Given the description of an element on the screen output the (x, y) to click on. 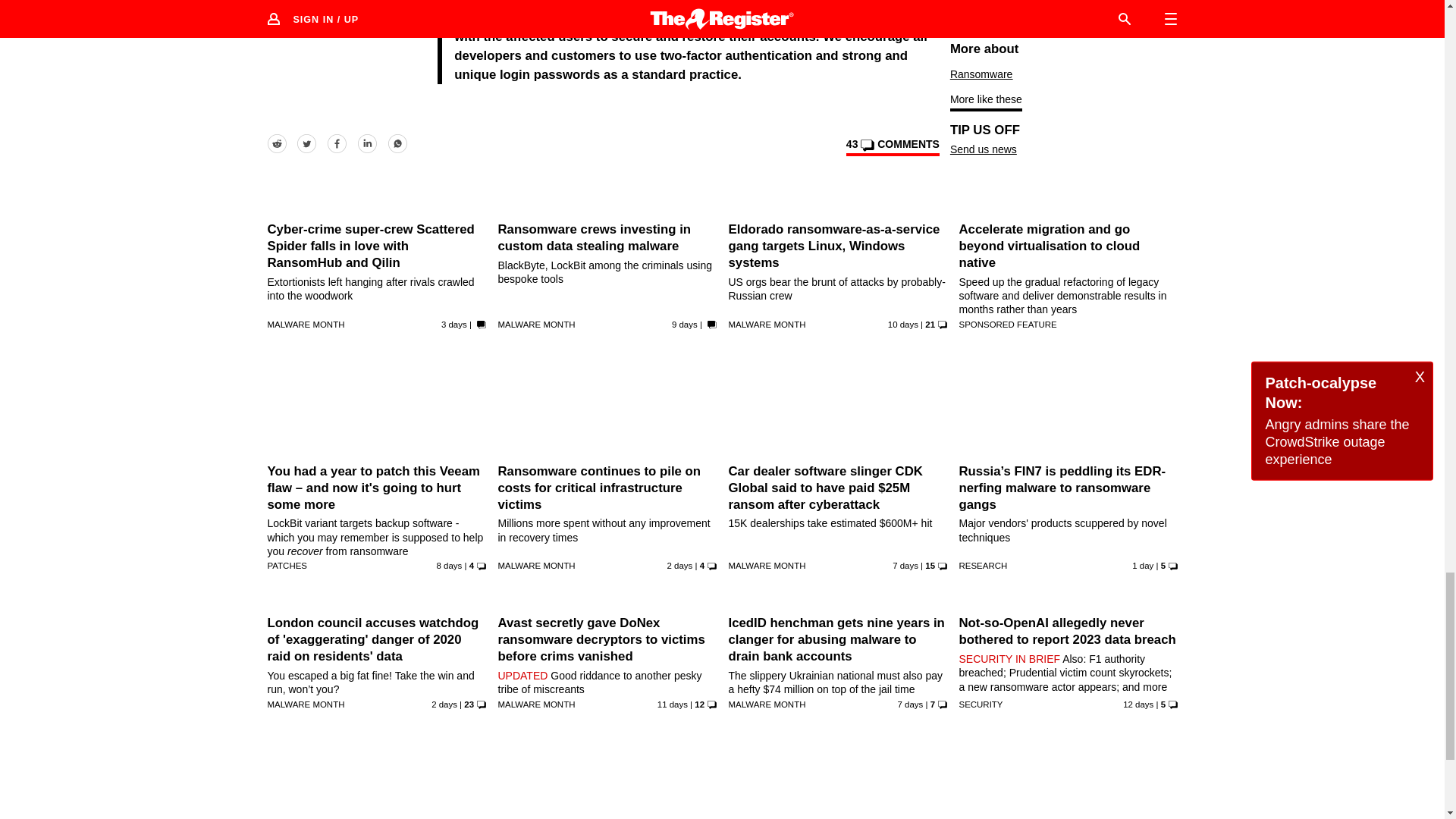
9 Jul 2024 7:29 (903, 324)
17 Jul 2024 11:45 (443, 704)
17 Jul 2024 15:1 (679, 565)
12 Jul 2024 23:53 (905, 565)
18 Jul 2024 13:40 (1142, 565)
View comments on this article (892, 147)
16 Jul 2024 18:5 (454, 324)
8 Jul 2024 12:44 (672, 704)
10 Jul 2024 10:0 (684, 324)
11 Jul 2024 7:28 (449, 565)
